Given the description of an element on the screen output the (x, y) to click on. 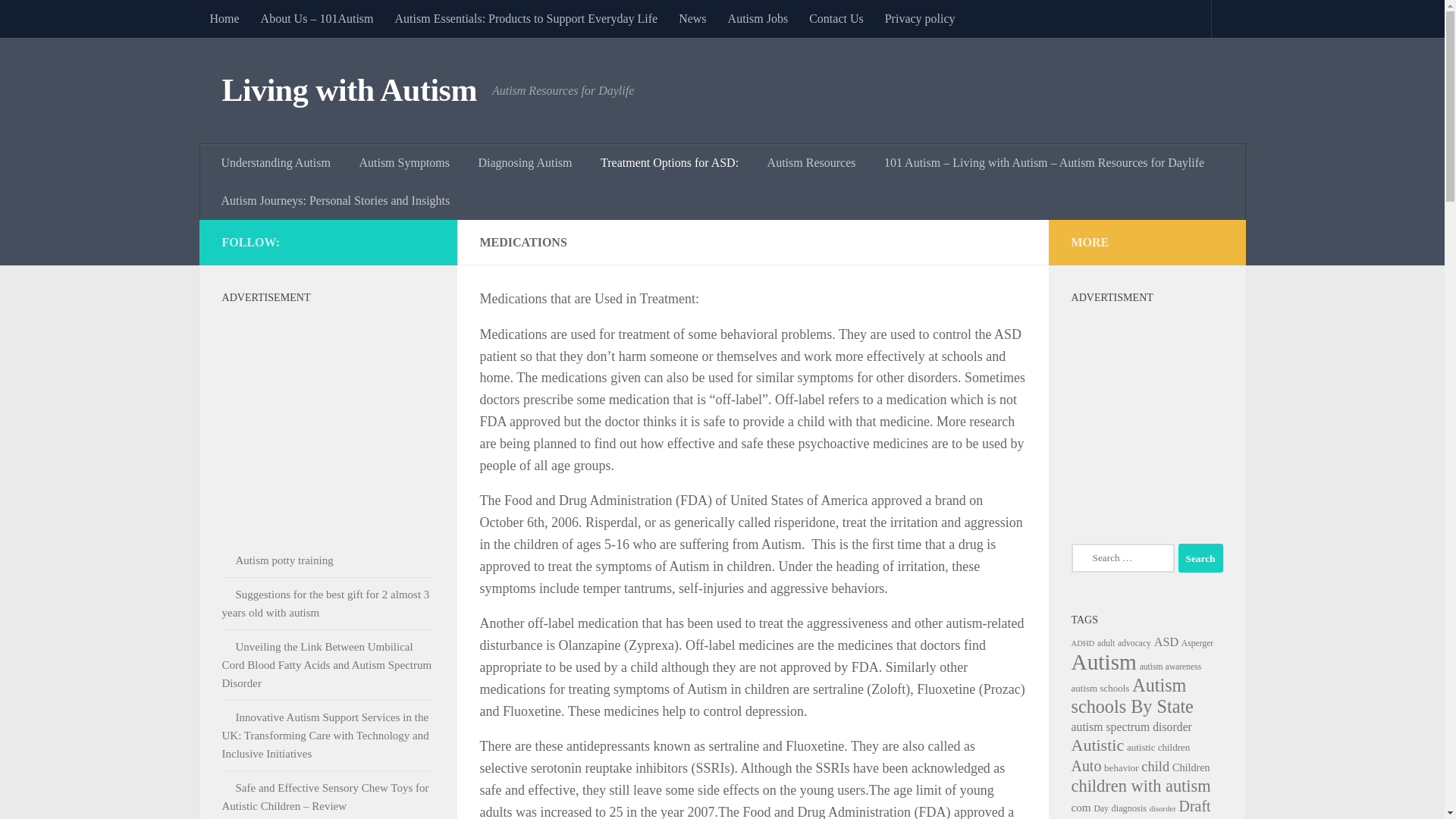
Skip to content (59, 20)
Search (1200, 557)
Autism Journeys (336, 200)
Autism-Friendly Job Opportunities (758, 18)
Privacy policy (920, 18)
Search (1200, 557)
